Given the description of an element on the screen output the (x, y) to click on. 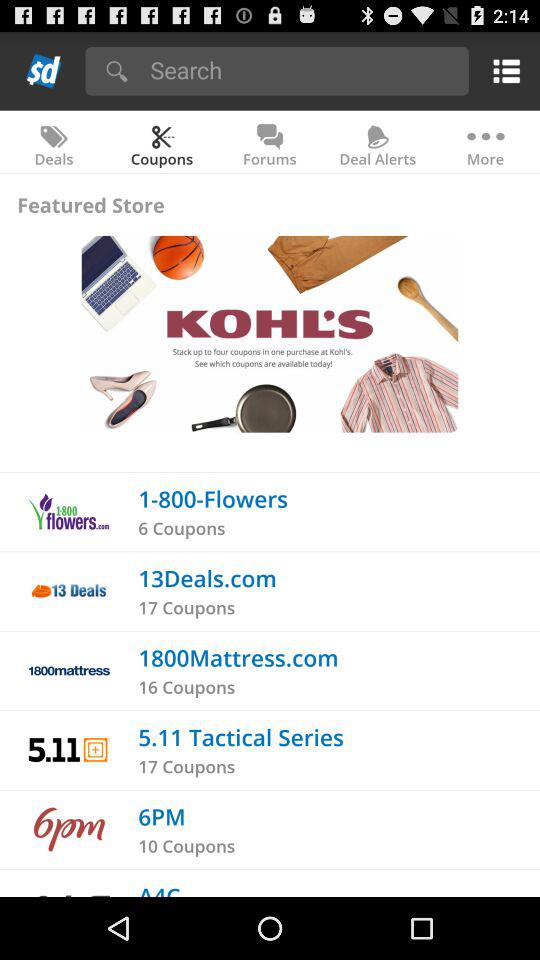
scroll to 10 coupons (186, 845)
